Given the description of an element on the screen output the (x, y) to click on. 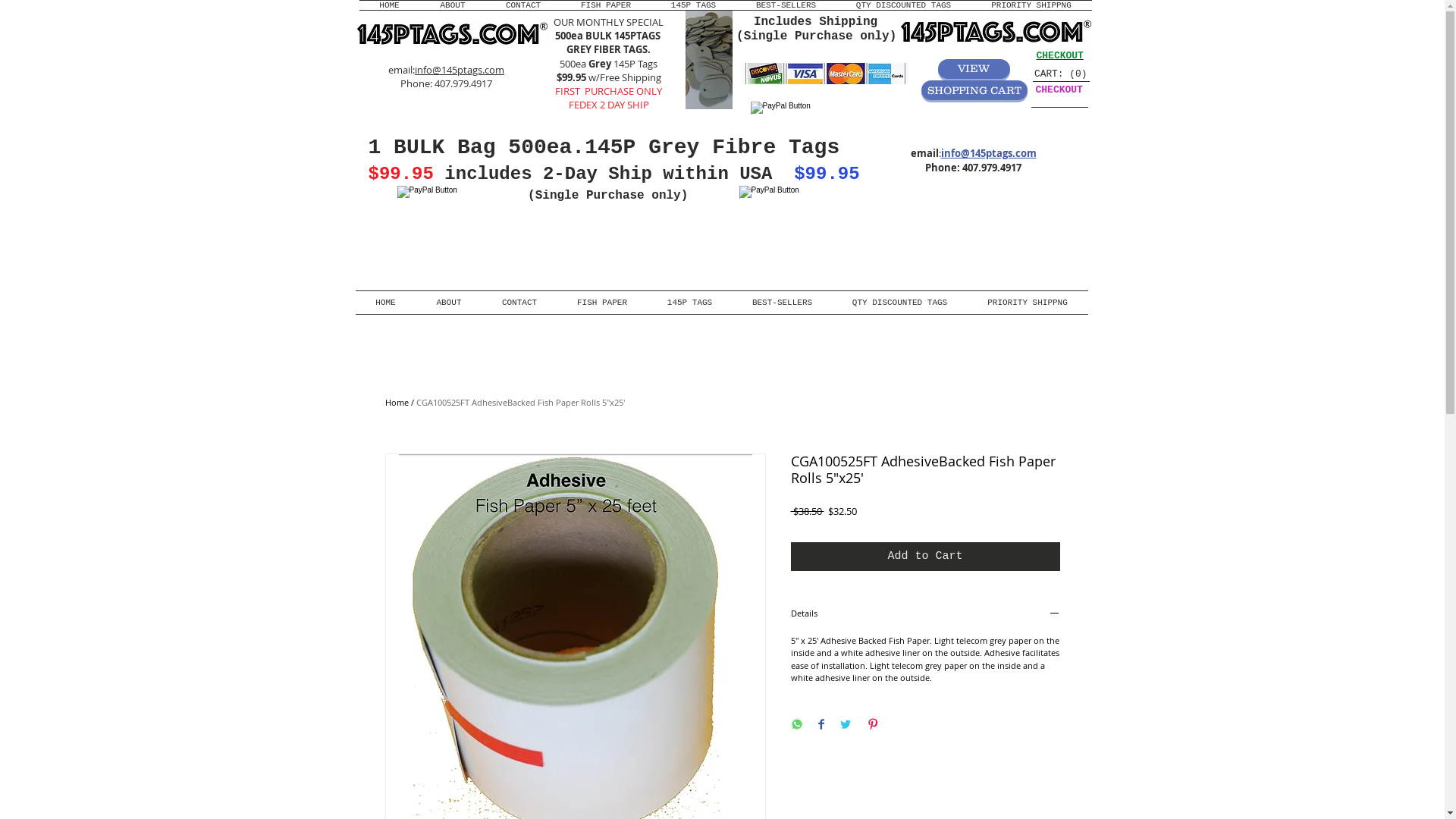
CGA100525FT AdhesiveBacked Fish Paper Rolls 5"x25' Element type: text (519, 401)
info@145ptags.com Element type: text (459, 69)
BEST-SELLERS Element type: text (782, 302)
ABOUT Element type: text (453, 4)
VIEW Element type: text (973, 68)
FISH PAPER Element type: text (601, 302)
CART: (0) Element type: text (1060, 72)
PRIORITY SHIPPNG Element type: text (1027, 302)
QTY DISCOUNTED TAGS Element type: text (899, 302)
Details Element type: text (924, 614)
SHOPPING CART Element type: text (973, 90)
ABOUT Element type: text (448, 302)
145P TAGS Element type: text (689, 302)
PRIORITY SHIPPNG Element type: text (1030, 4)
145P TAGS Element type: text (692, 4)
CHECKOUT Element type: text (1058, 55)
CONTACT Element type: text (519, 302)
HOME Element type: text (384, 302)
HOME Element type: text (389, 4)
BEST-SELLERS Element type: text (785, 4)
Edited Image 2018-01-08 17-08-16 Element type: hover (708, 59)
Home Element type: text (396, 401)
QTY DISCOUNTED TAGS Element type: text (902, 4)
FISH PAPER Element type: text (606, 4)
Add to Cart Element type: text (924, 556)
CONTACT Element type: text (522, 4)
CHECKOUT Element type: text (1058, 89)
info@145ptags.com Element type: text (987, 153)
